Given the description of an element on the screen output the (x, y) to click on. 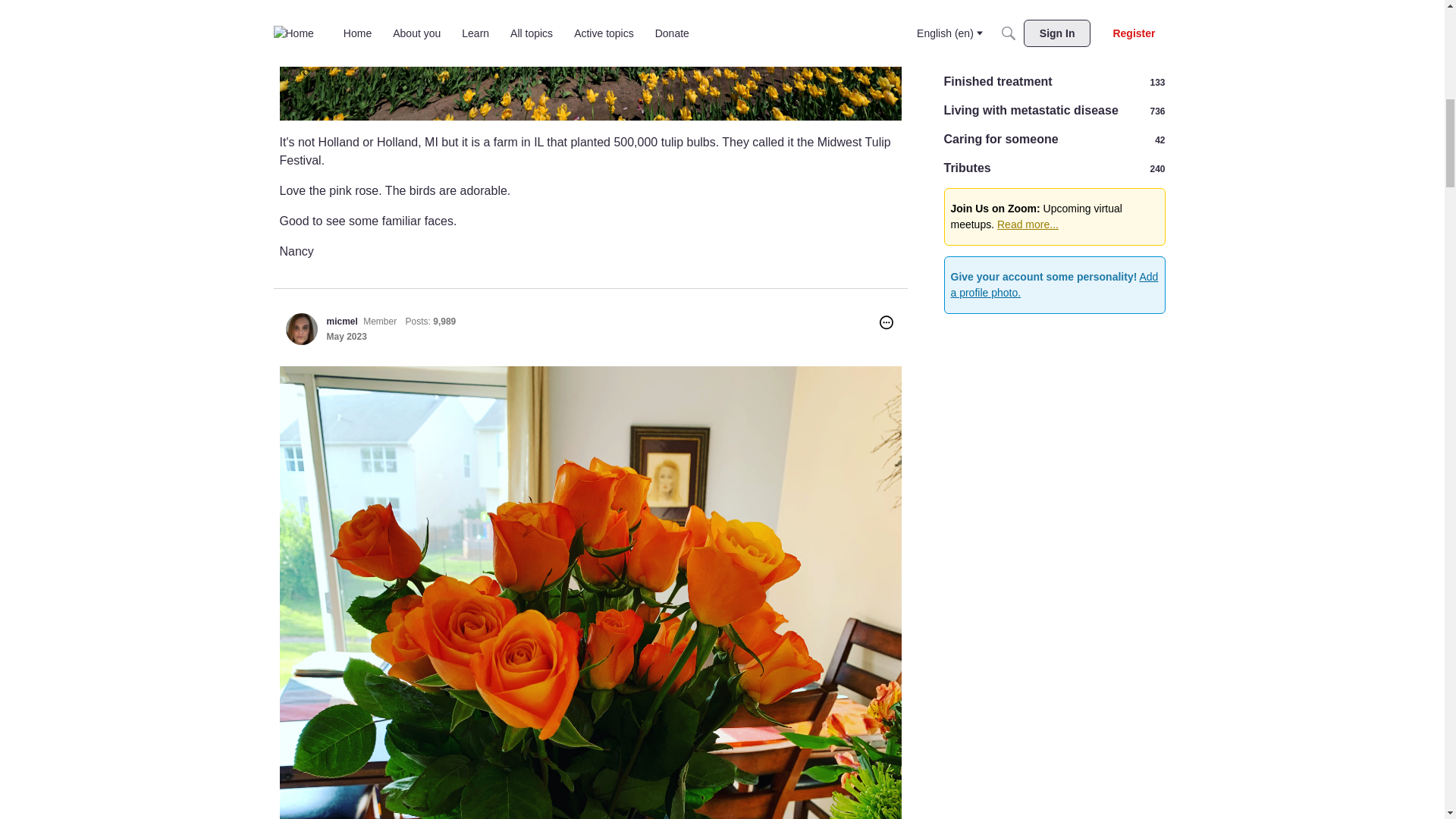
micmel (341, 321)
micmel (301, 328)
May 31, 2023 1:28AM (346, 336)
May 2023 (346, 336)
